Given the description of an element on the screen output the (x, y) to click on. 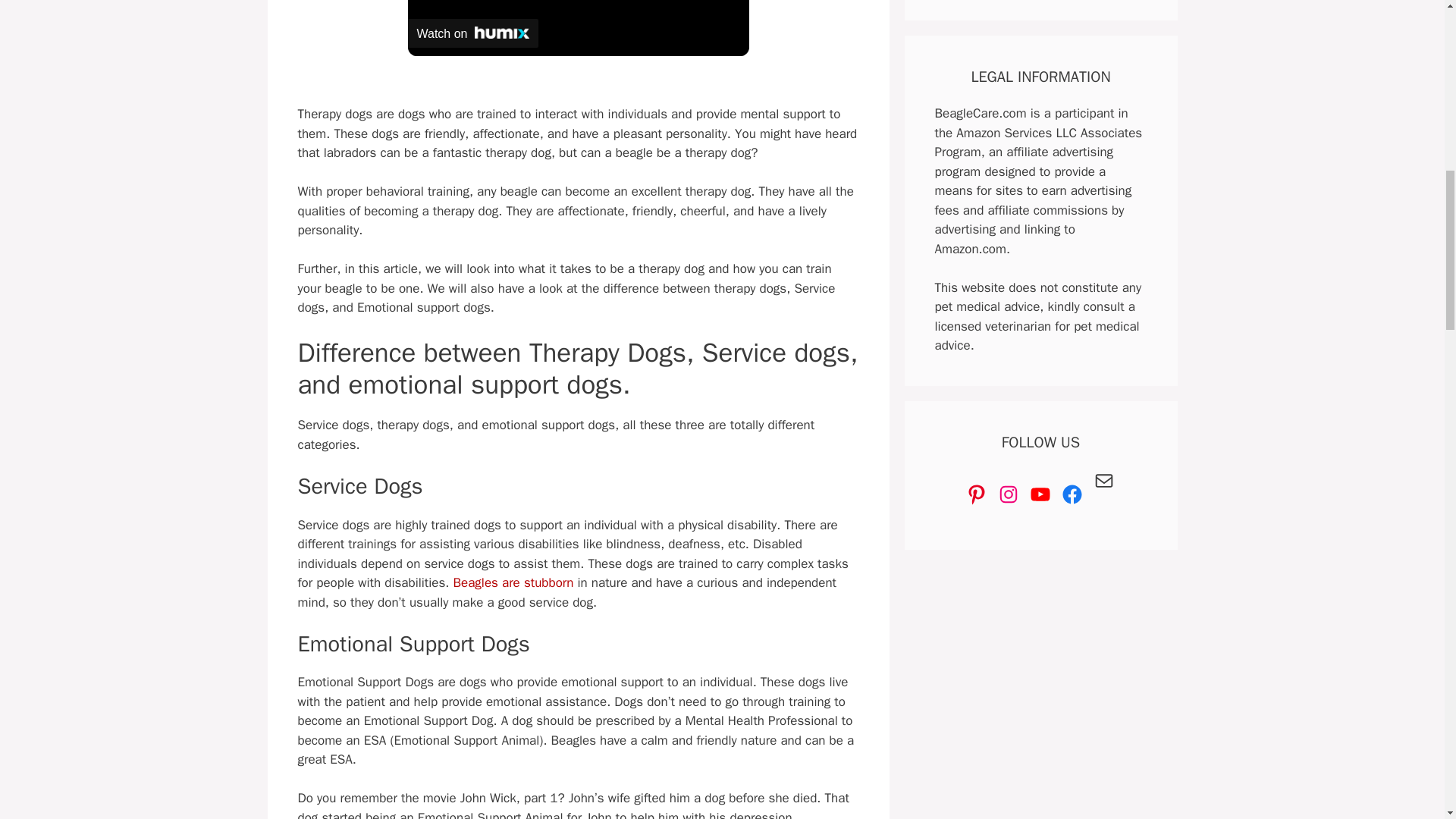
Mail (1104, 480)
Instagram (1008, 494)
Beagles are stubborn (512, 582)
YouTube (1040, 494)
Facebook (1072, 494)
Pinterest (976, 494)
Watch on (472, 32)
